Given the description of an element on the screen output the (x, y) to click on. 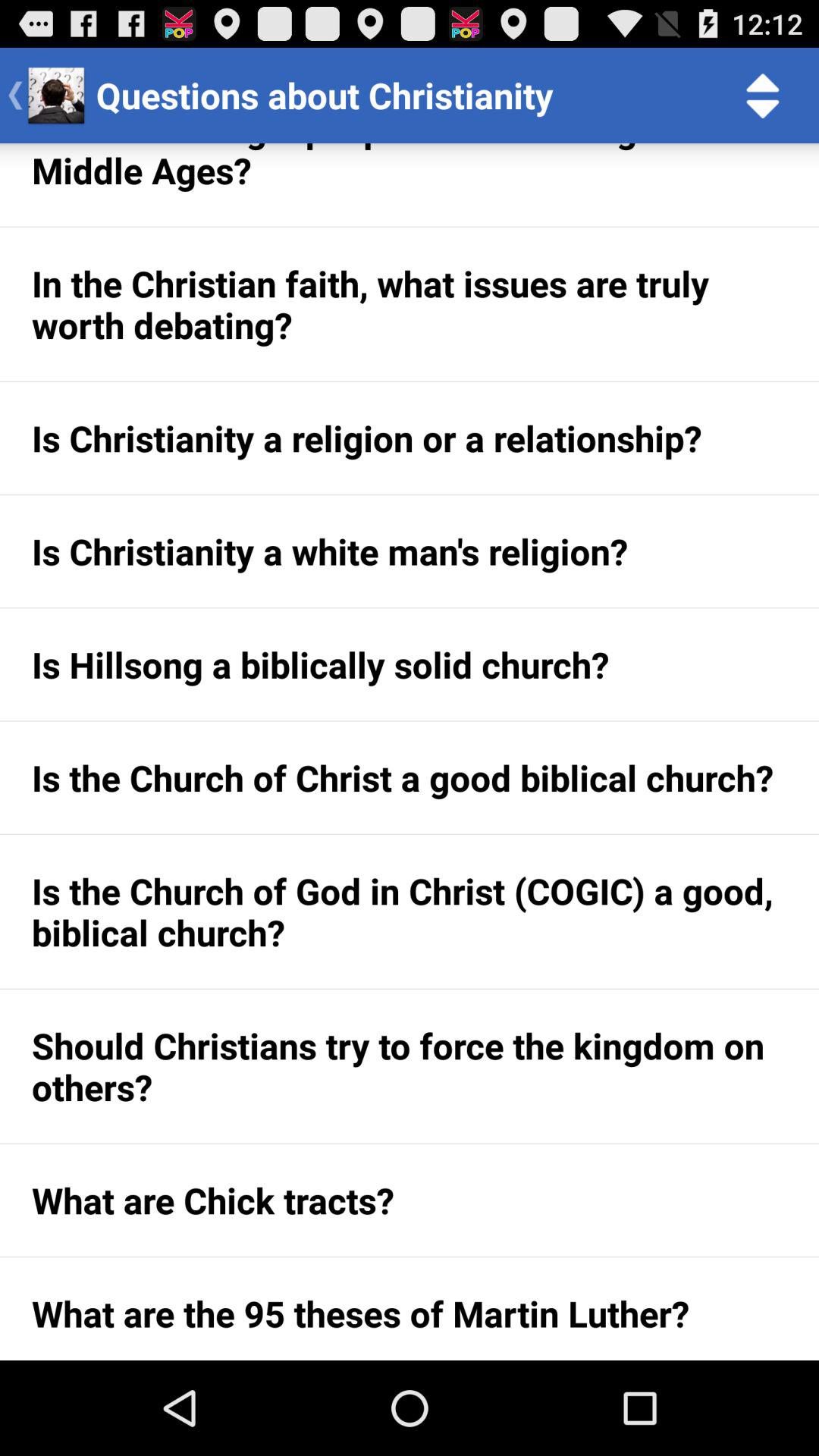
open icon below is christianity a (409, 664)
